Given the description of an element on the screen output the (x, y) to click on. 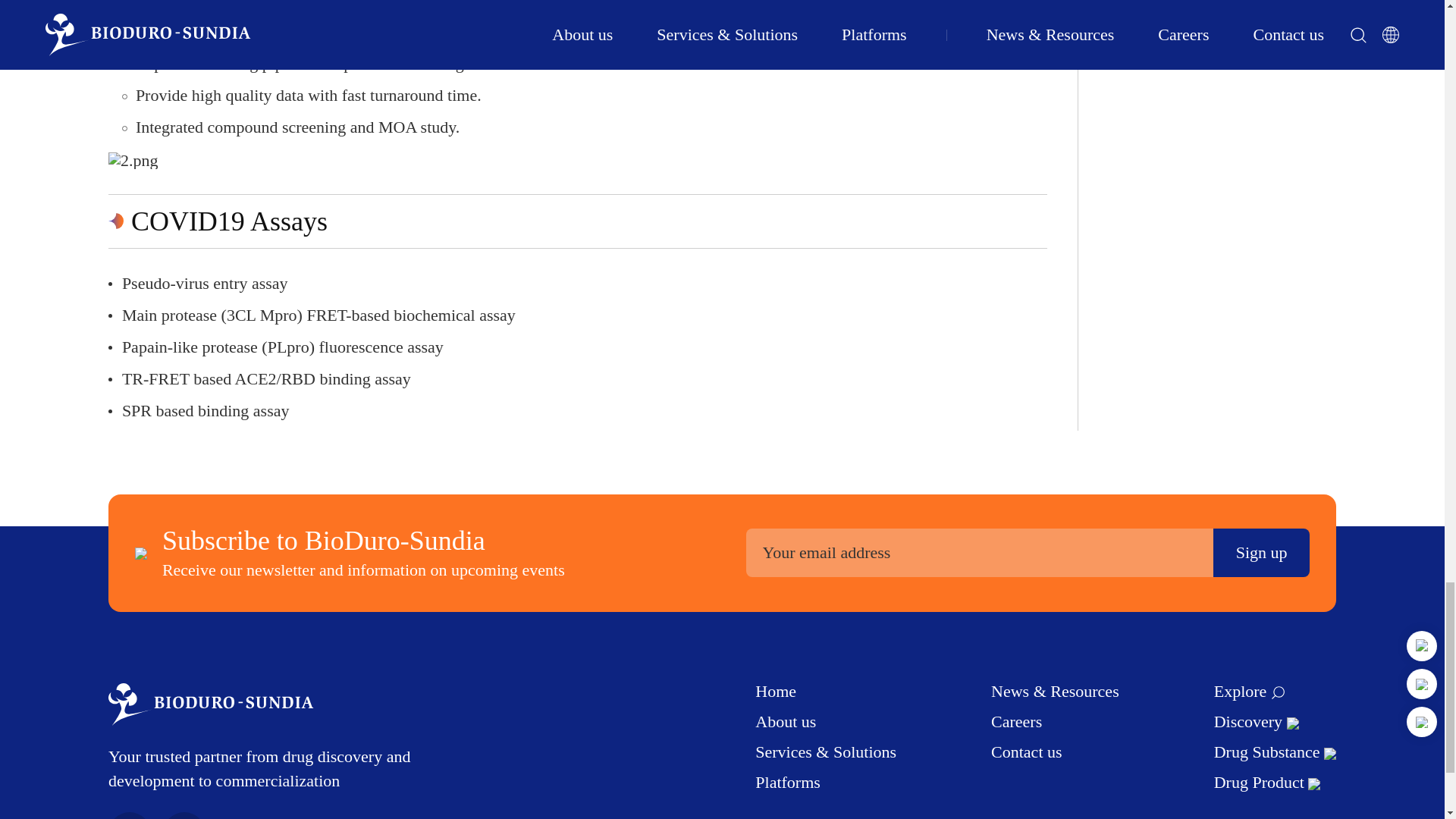
1.png (132, 4)
2.png (132, 160)
Sign up (1260, 552)
